Given the description of an element on the screen output the (x, y) to click on. 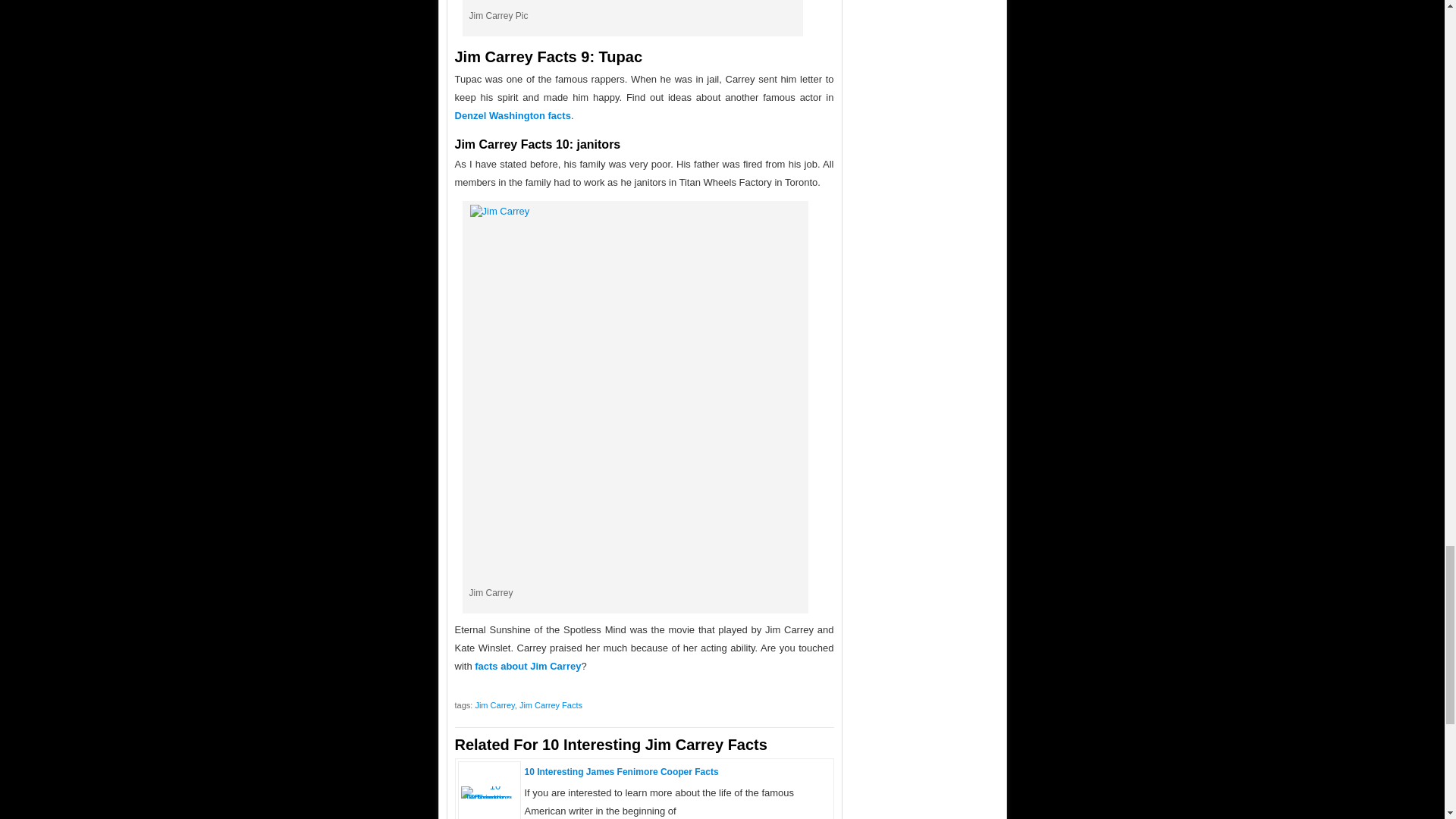
facts about Jim Carrey (527, 665)
Jim Carrey (493, 705)
10 Interesting James Fenimore Cooper Facts (489, 797)
Jim Carrey Facts (550, 705)
10 Interesting James Fenimore Cooper Facts (621, 770)
Denzel Washington facts (512, 114)
10 Interesting James Fenimore Cooper Facts (621, 770)
